Given the description of an element on the screen output the (x, y) to click on. 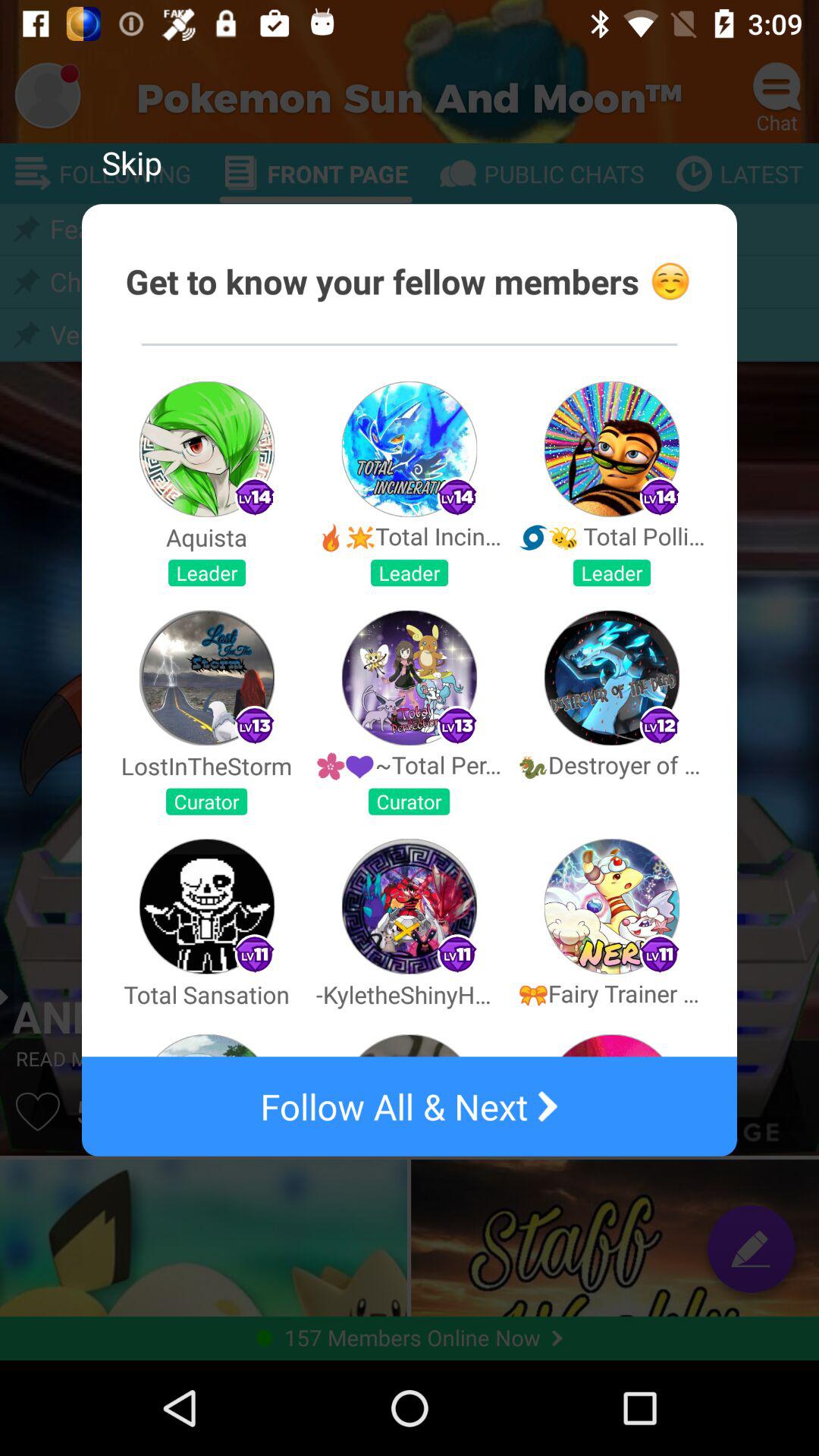
click on the image which is above lostlnthestorm (206, 677)
select the second image in the second row (409, 677)
select right side bottom fairy trainerbutton (611, 906)
select the circular image which is above total sansation (206, 906)
click on the text image lv14 which is above the total incin option (456, 496)
select the small icon which is above the text fairy trainer (659, 954)
skip (131, 161)
